Given the description of an element on the screen output the (x, y) to click on. 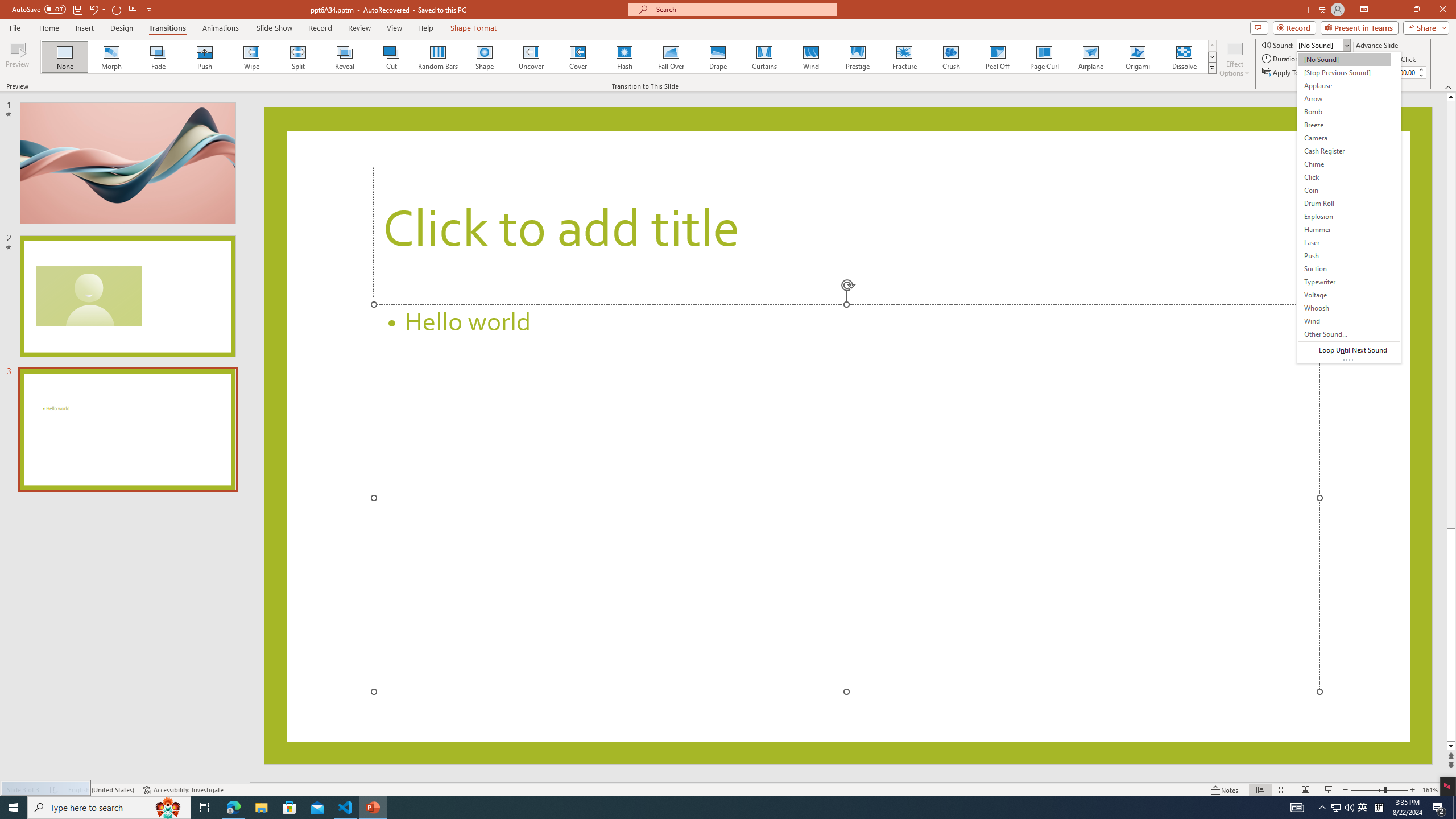
Fracture (903, 56)
Prestige (857, 56)
Push (205, 56)
